Given the description of an element on the screen output the (x, y) to click on. 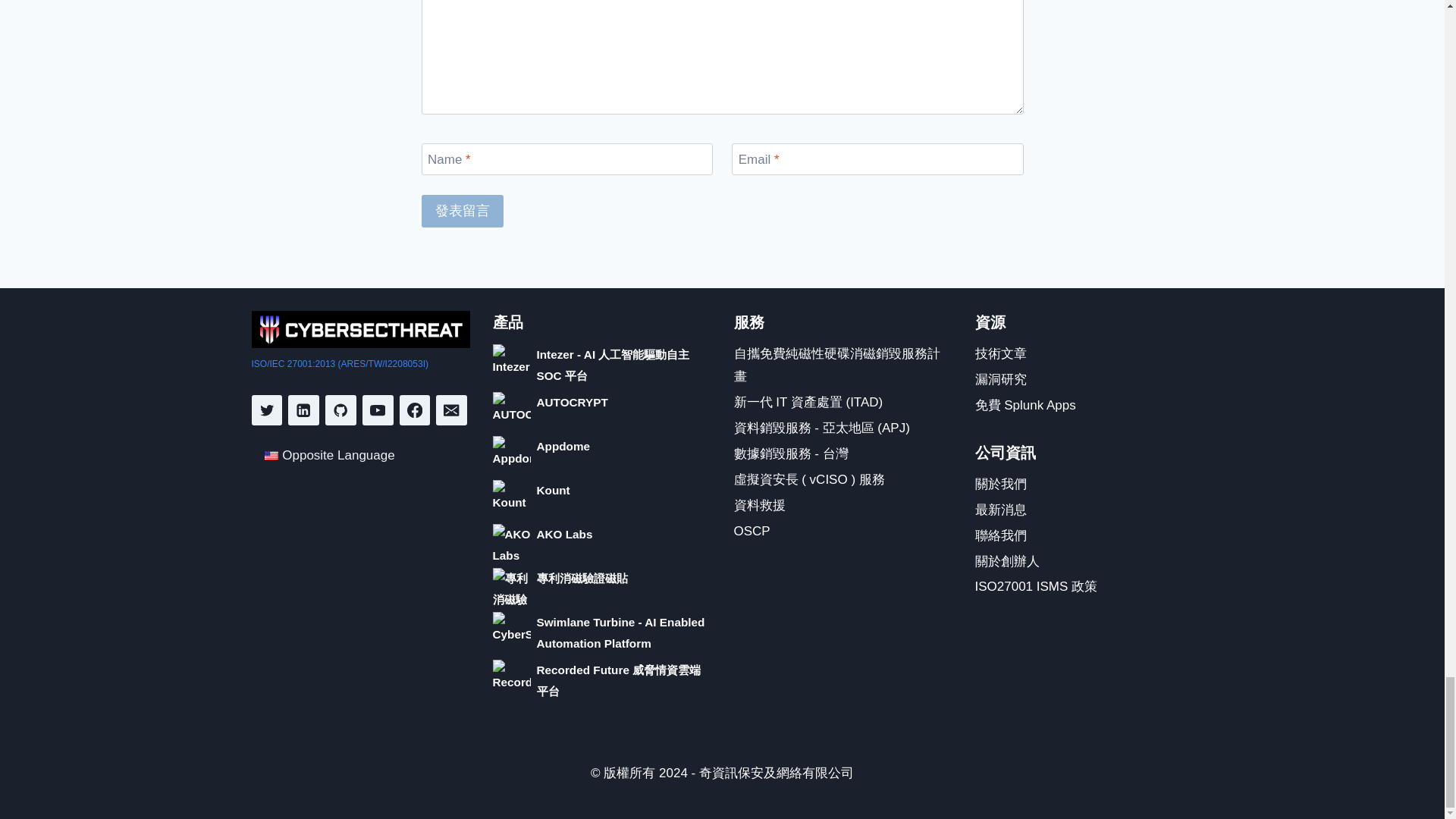
Opposite Language (271, 455)
